Given the description of an element on the screen output the (x, y) to click on. 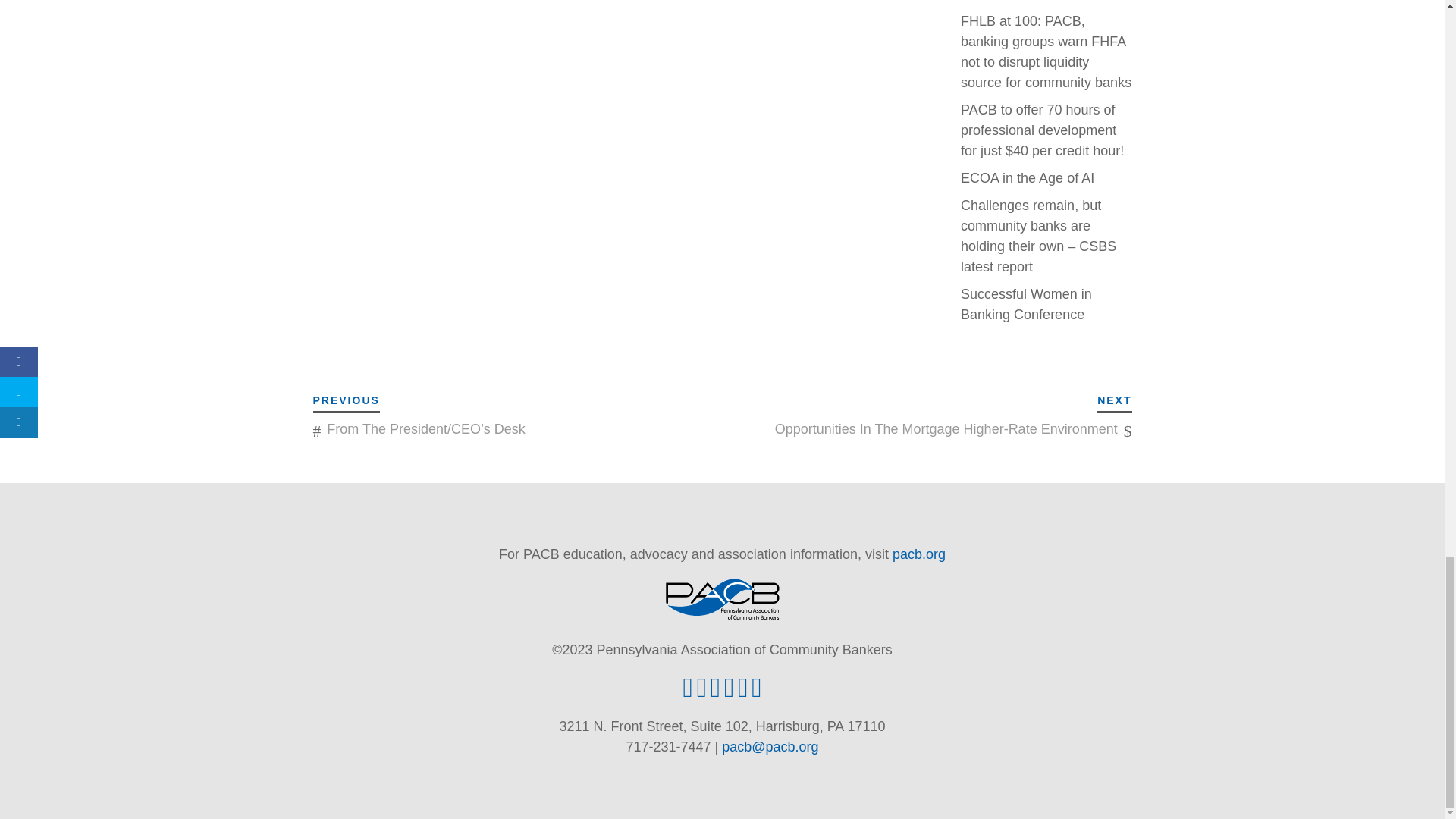
Opportunities In The Mortgage Higher-Rate Environment (946, 428)
We Want You! (1003, 0)
Successful Women in Banking Conference  (1026, 304)
pacb.org (918, 554)
ECOA in the Age of AI (1027, 177)
